Given the description of an element on the screen output the (x, y) to click on. 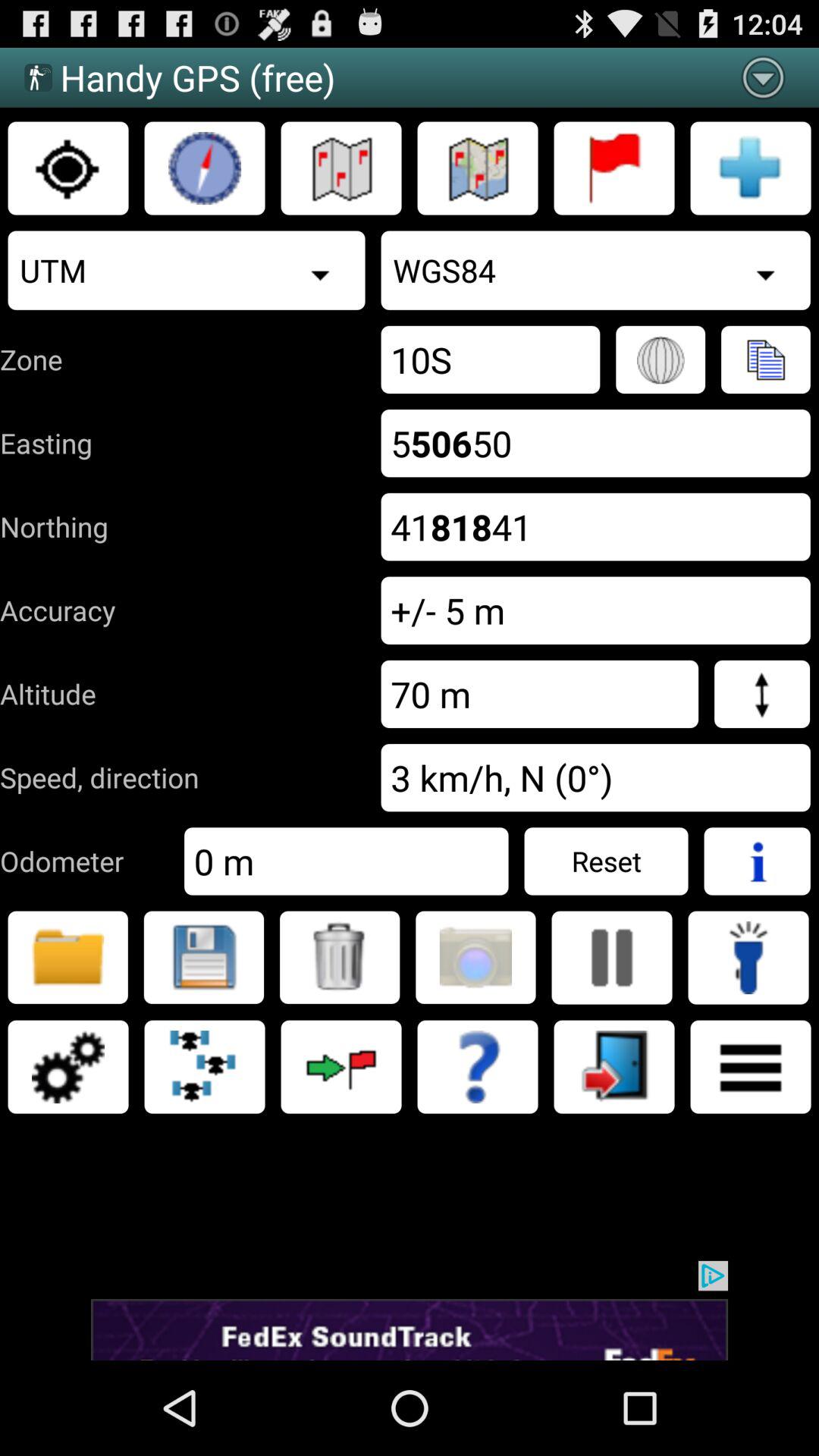
delete button (339, 957)
